Given the description of an element on the screen output the (x, y) to click on. 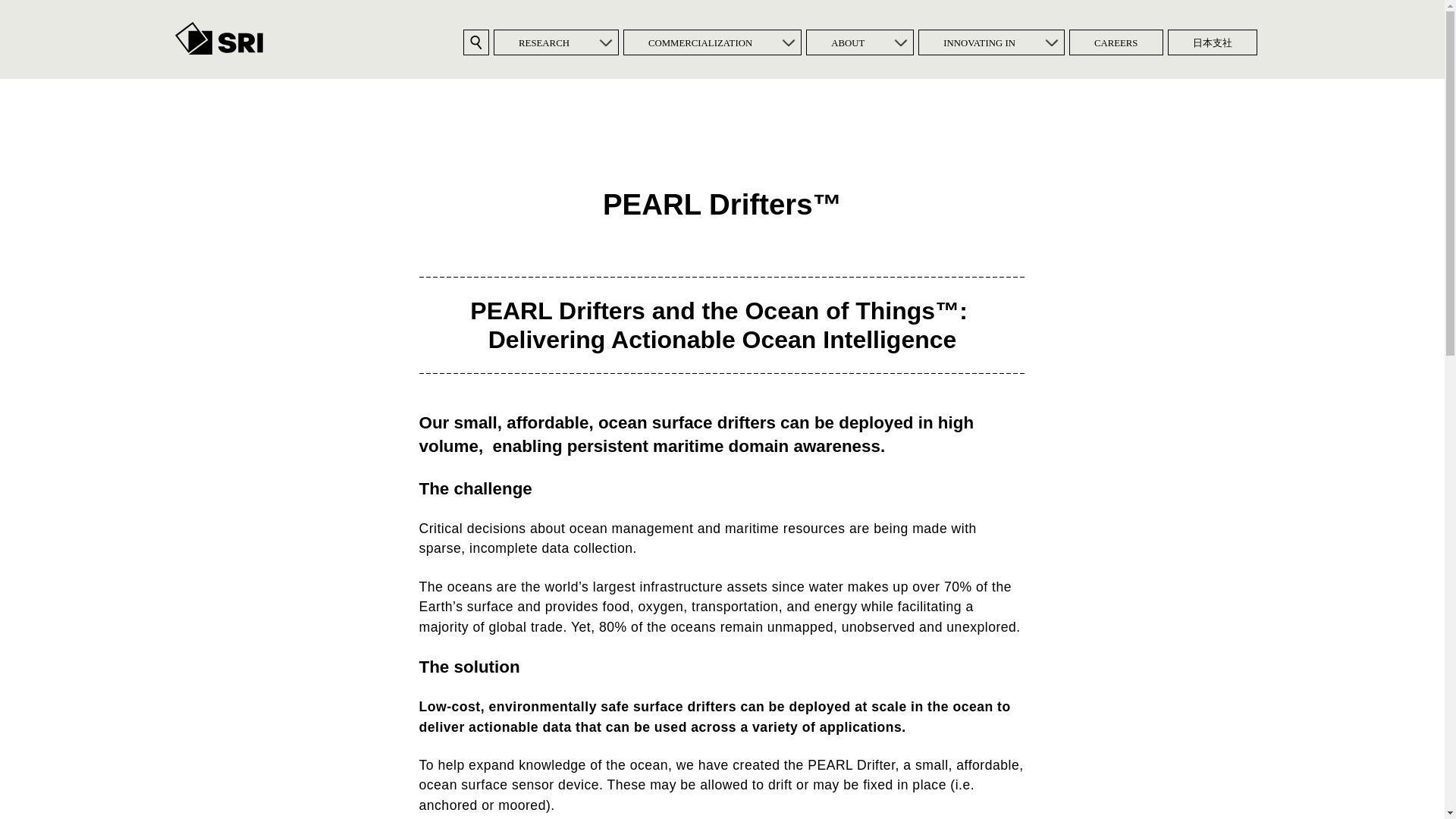
CAREERS (1115, 42)
INNOVATING IN (978, 42)
ABOUT (847, 42)
RESEARCH (544, 42)
COMMERCIALIZATION (700, 42)
